Given the description of an element on the screen output the (x, y) to click on. 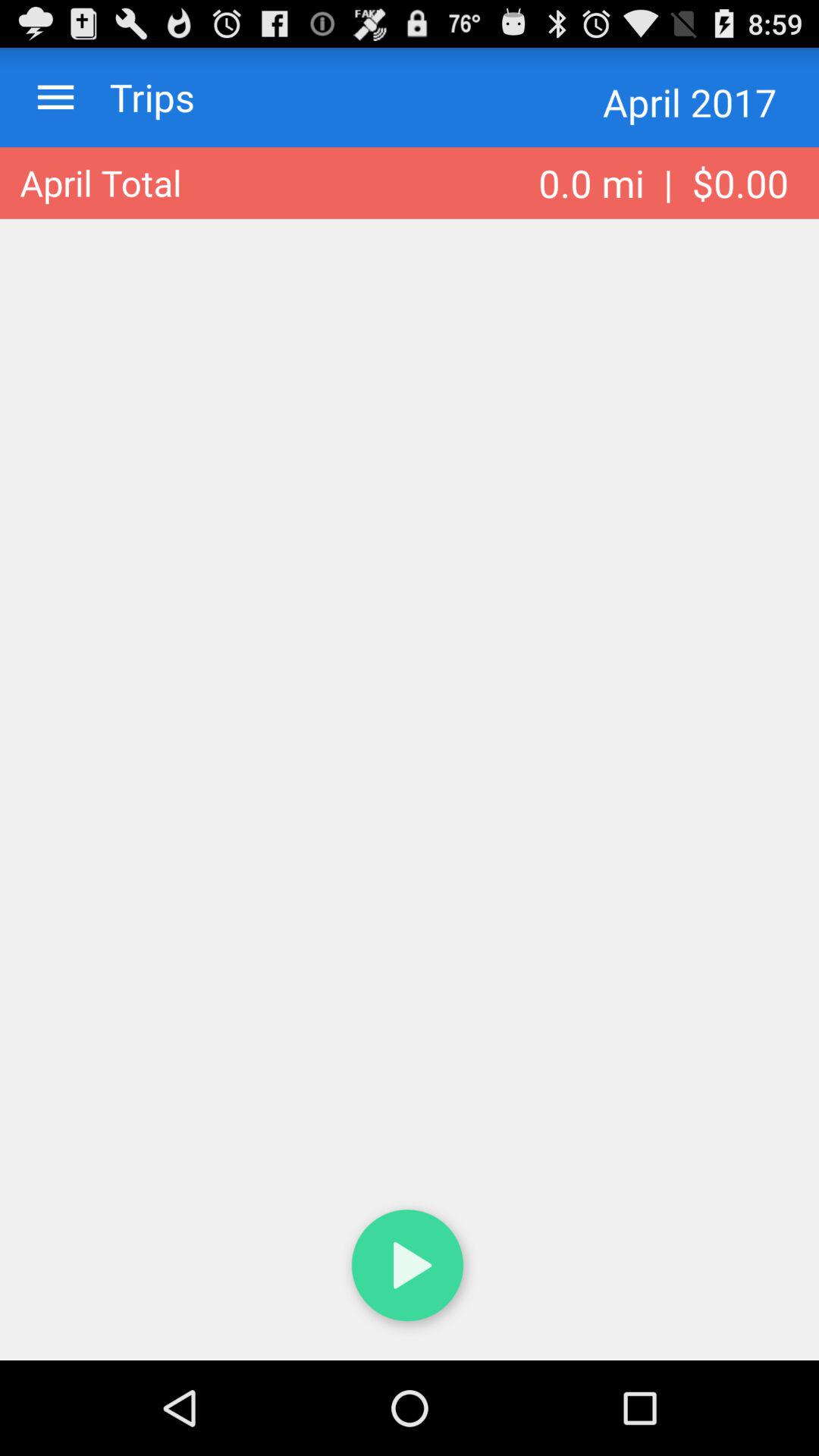
press the app next to the 0 0 mi icon (100, 182)
